Given the description of an element on the screen output the (x, y) to click on. 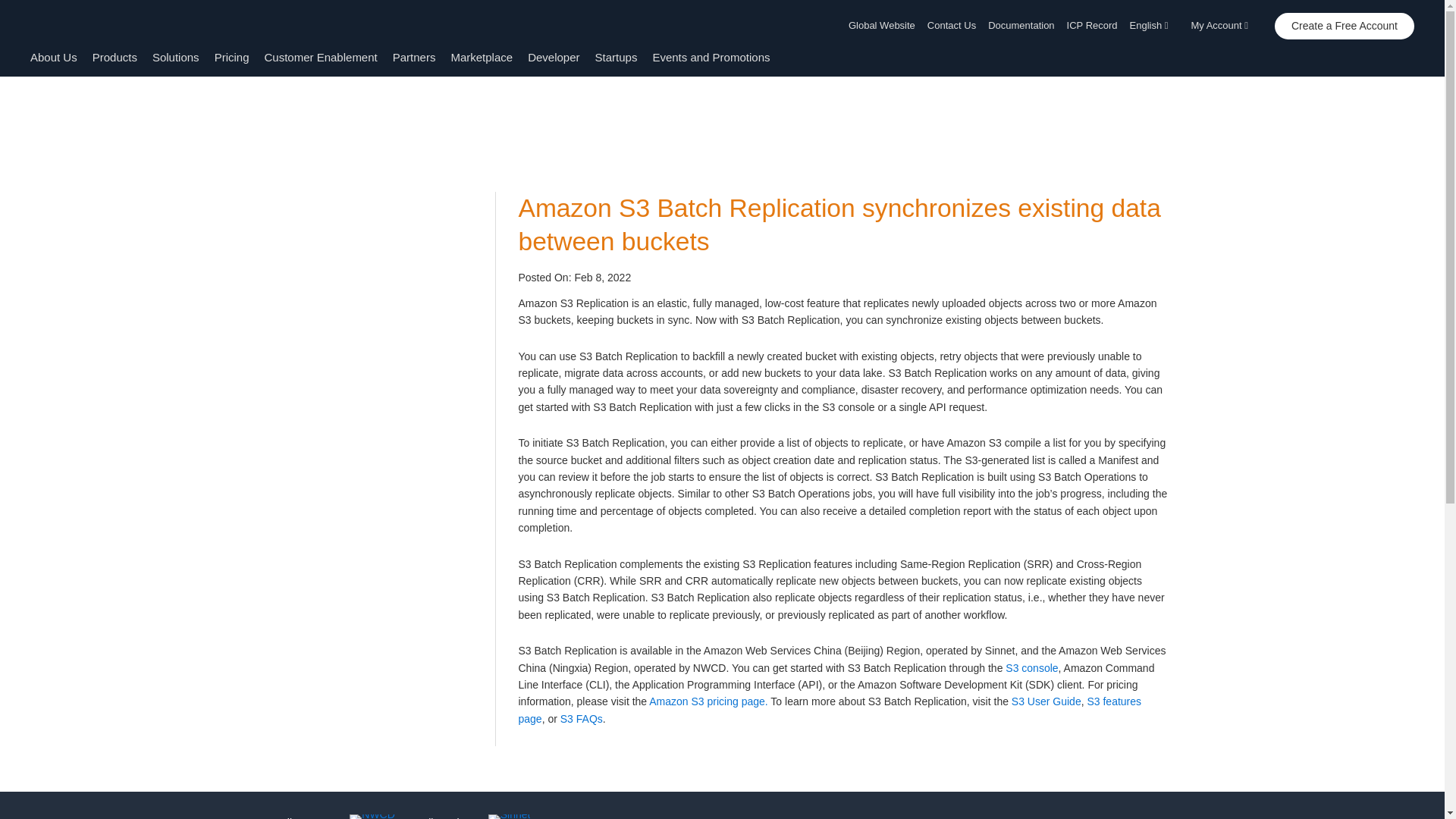
Marketplace (480, 56)
Startups (616, 56)
Products (114, 56)
Developer (553, 56)
Contact Us (951, 26)
Create a Free Account (1344, 25)
Documentation (1020, 26)
Customer Enablement (320, 56)
Skip to main content (7, 105)
My Account  (1224, 26)
